Given the description of an element on the screen output the (x, y) to click on. 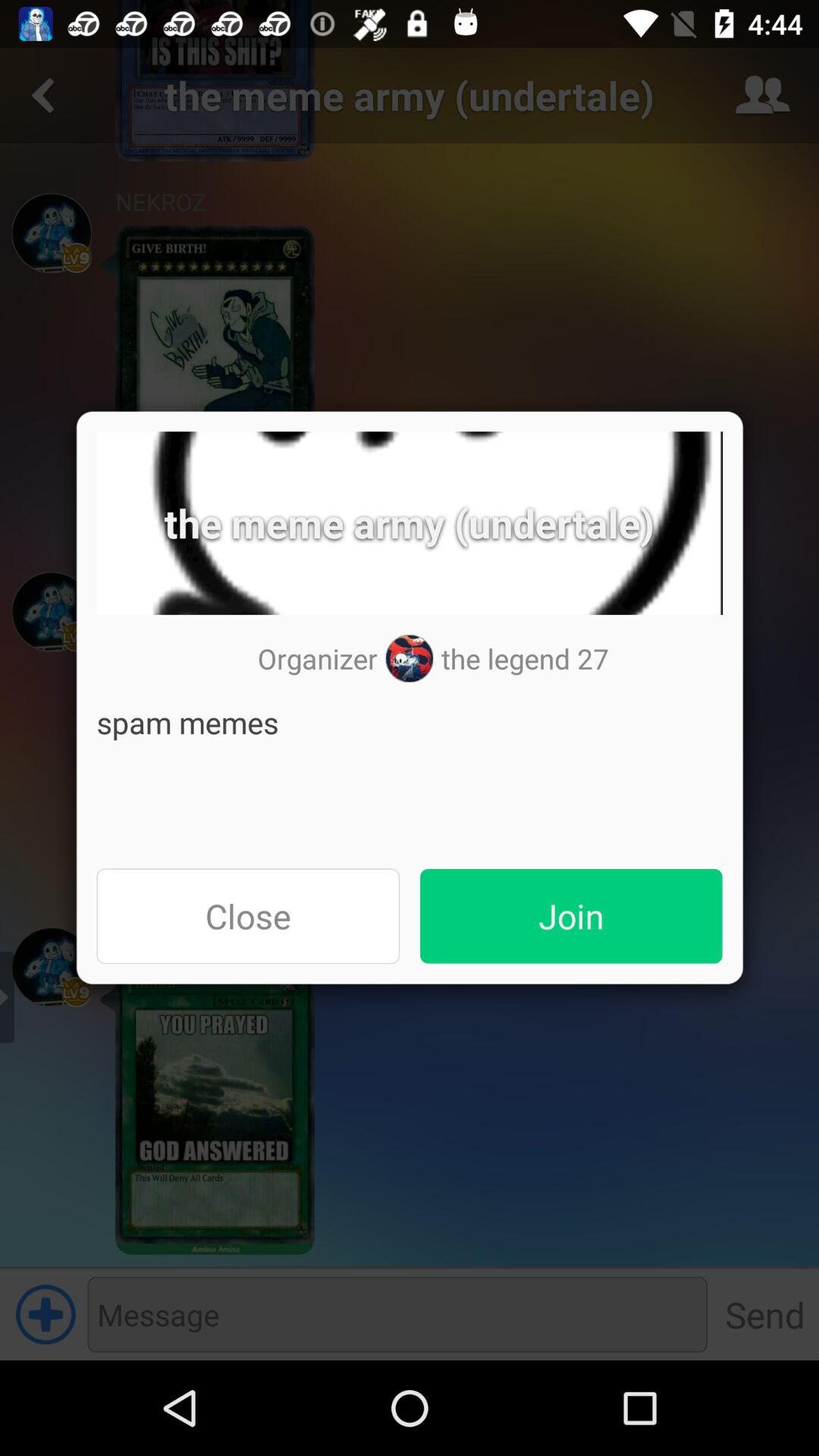
choose app below spam memes item (247, 916)
